Given the description of an element on the screen output the (x, y) to click on. 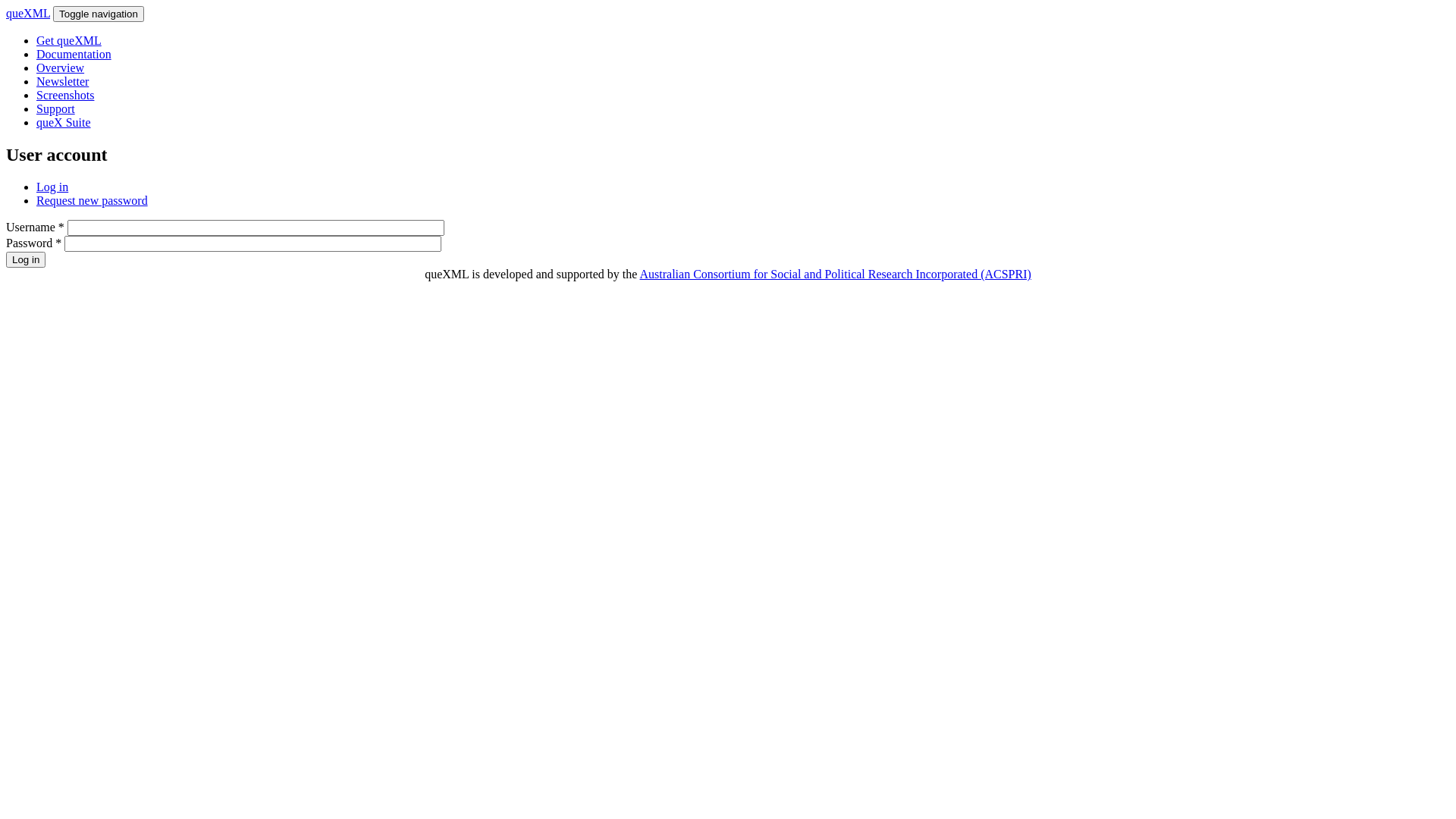
Toggle navigation Element type: text (98, 13)
Log in Element type: text (25, 259)
Documentation Element type: text (73, 53)
Log in
(active tab) Element type: text (52, 186)
Overview Element type: text (60, 67)
Request new password Element type: text (91, 200)
Get queXML Element type: text (68, 40)
Enter the password that accompanies your username. Element type: hover (252, 243)
queX Suite Element type: text (63, 122)
Newsletter Element type: text (62, 81)
Support Element type: text (55, 108)
Screenshots Element type: text (65, 94)
Enter your queXML username. Element type: hover (255, 227)
Skip to main content Element type: text (56, 6)
queXML Element type: text (28, 12)
